Given the description of an element on the screen output the (x, y) to click on. 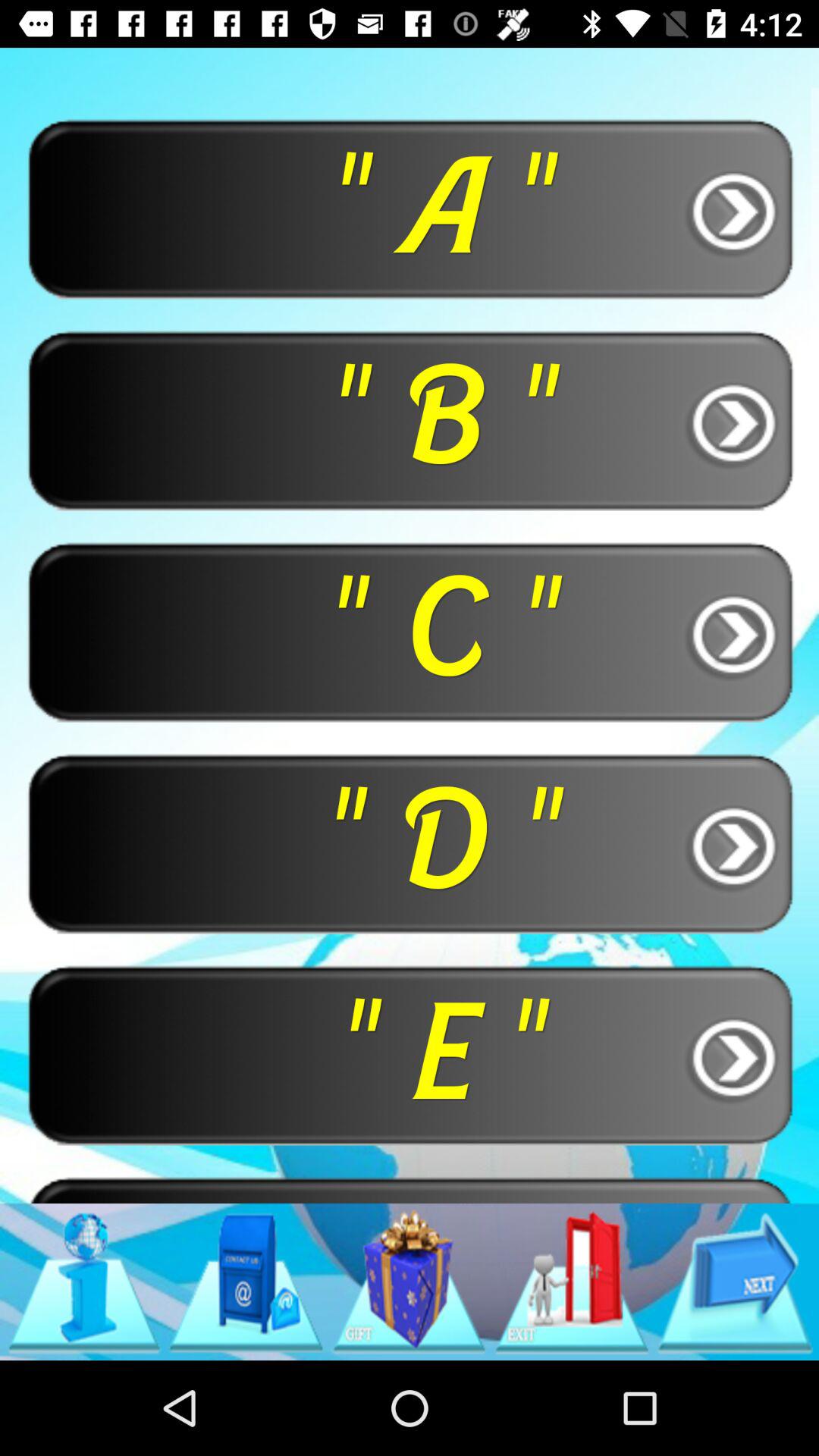
choose item below   " a " item (409, 419)
